Given the description of an element on the screen output the (x, y) to click on. 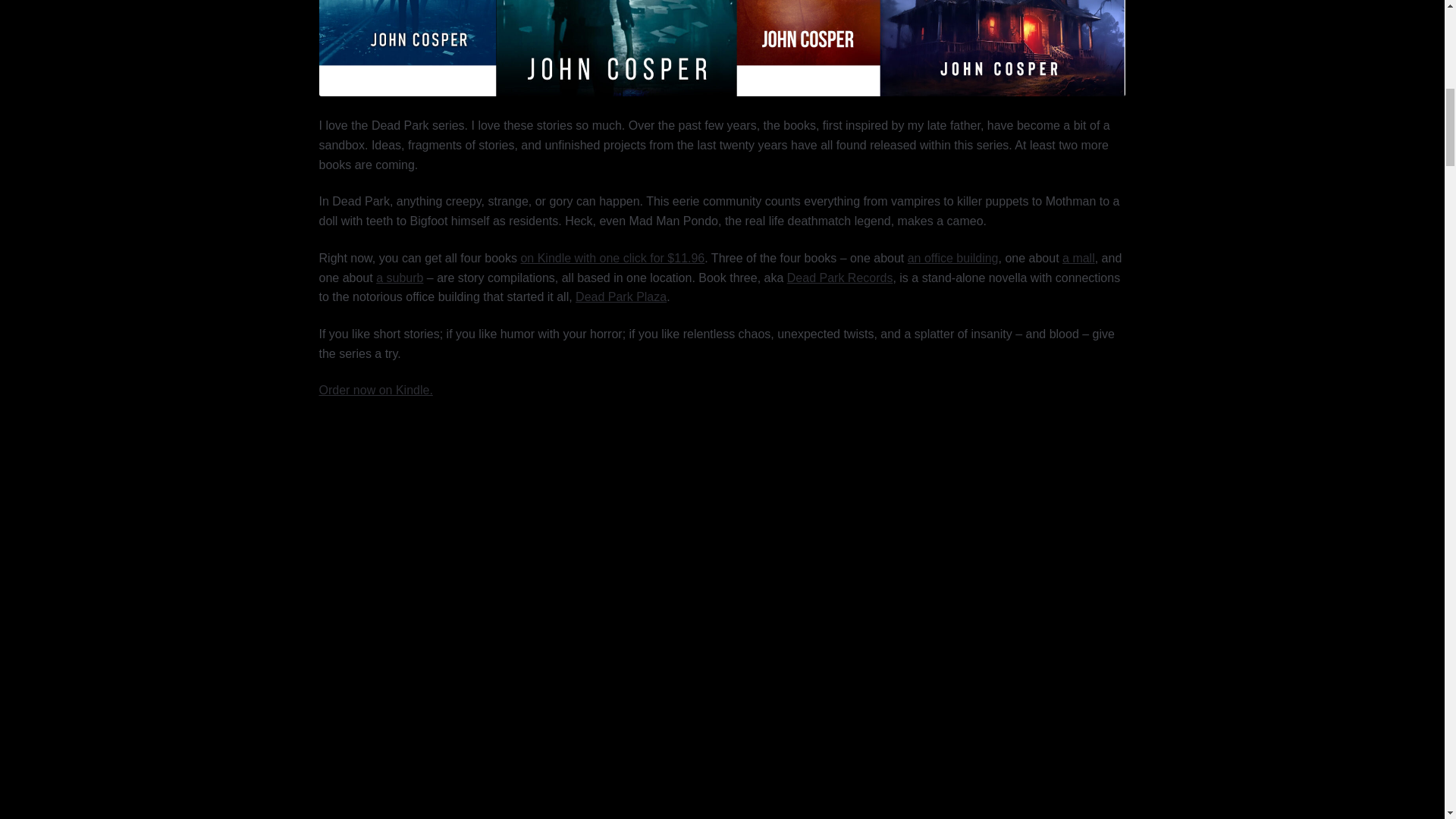
a suburb (399, 277)
a mall (1078, 257)
Dead Park Plaza (620, 296)
Dead Park Records (840, 277)
Order now on Kindle. (375, 390)
an office building (952, 257)
